Given the description of an element on the screen output the (x, y) to click on. 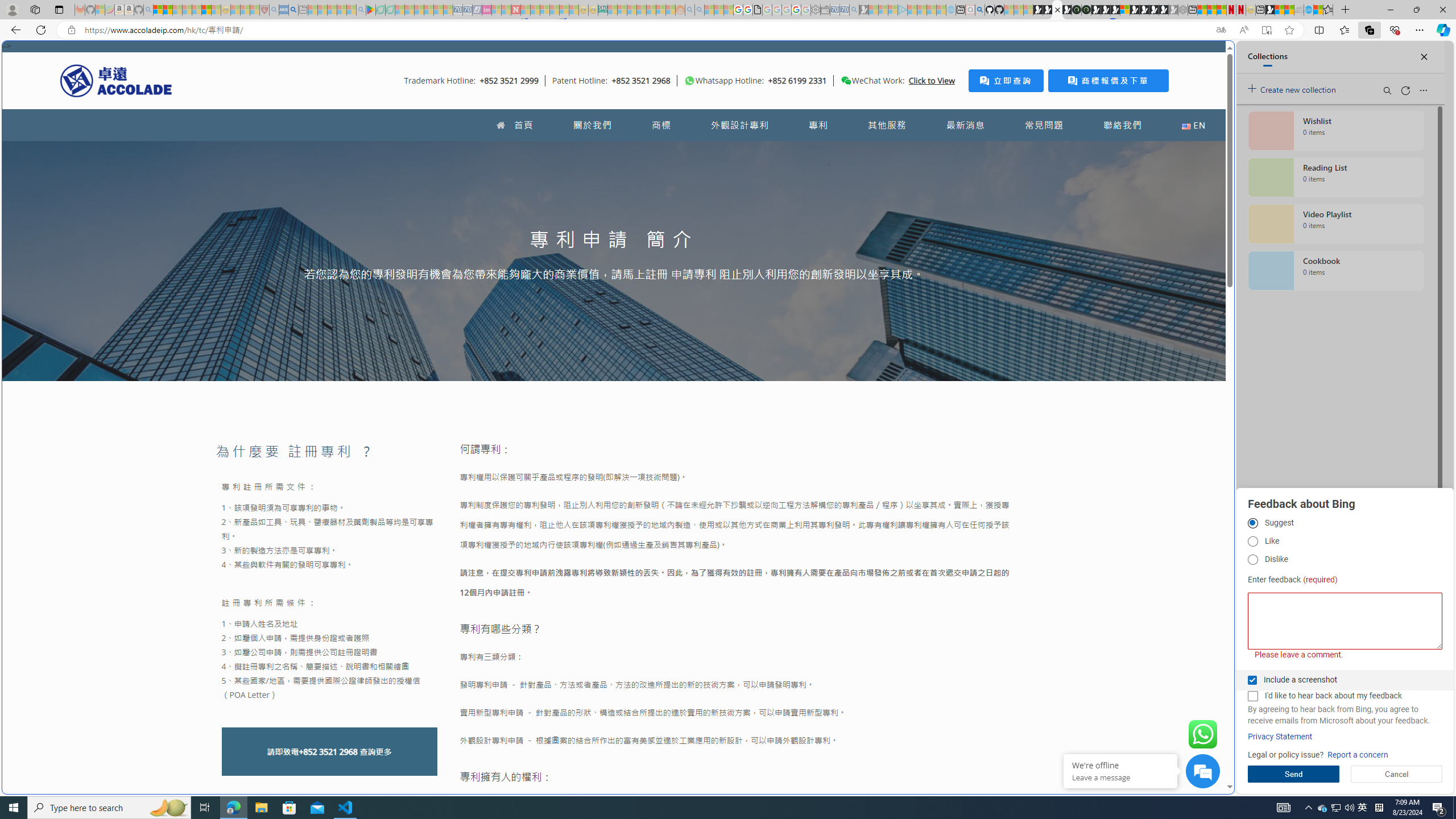
Bing Real Estate - Home sales and rental listings - Sleeping (853, 9)
Include a screenshot (1251, 679)
utah sues federal government - Search (292, 9)
